Given the description of an element on the screen output the (x, y) to click on. 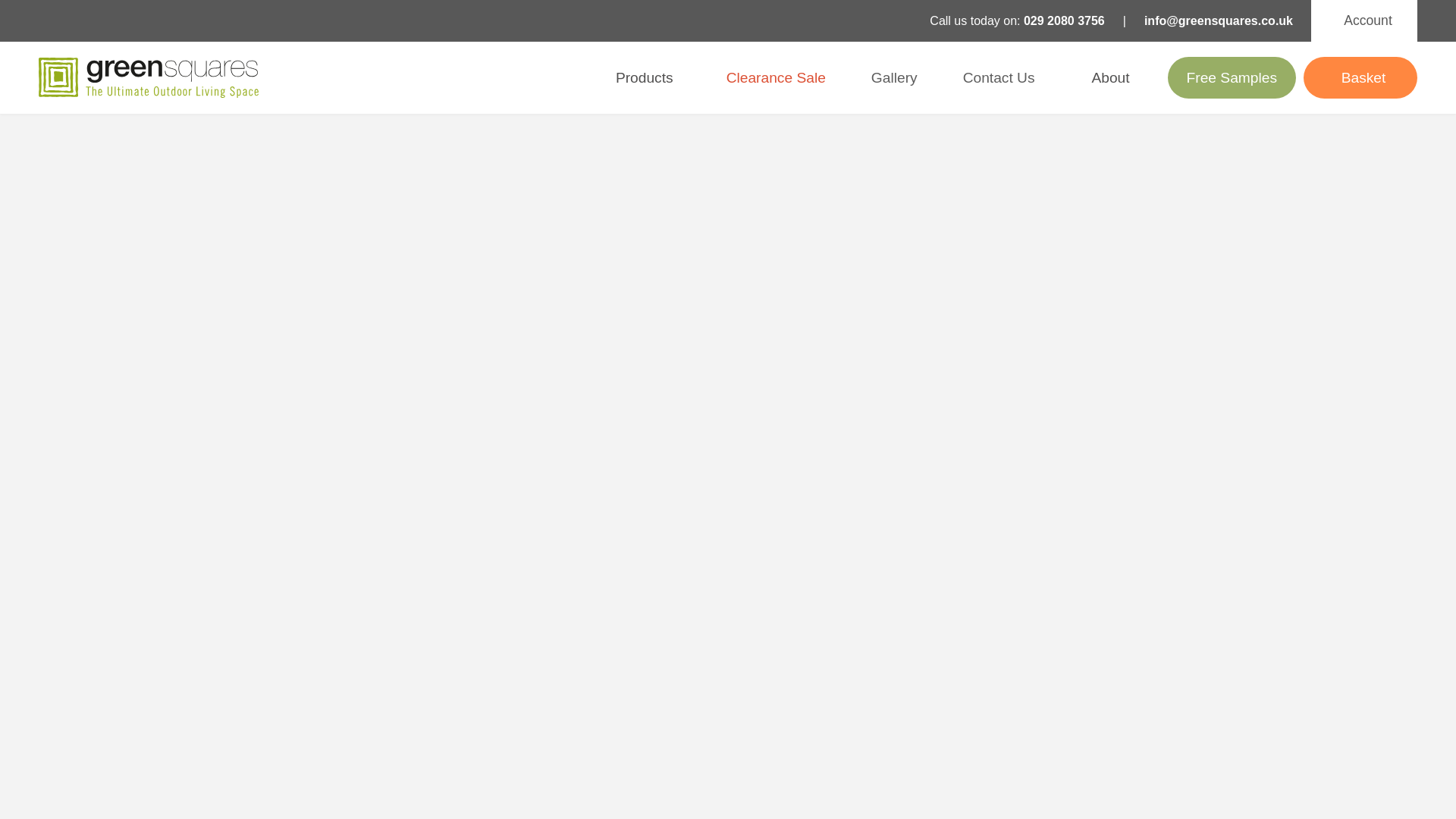
call us today on 029 2080 3756 (1064, 19)
Account (1363, 20)
Free Samples (1231, 77)
Clearance Sale (775, 77)
Contact Us (998, 77)
Account (1363, 20)
Customer reviews powered by Trustpilot (424, 76)
Basket (1359, 77)
029 2080 3756 (1064, 19)
